Given the description of an element on the screen output the (x, y) to click on. 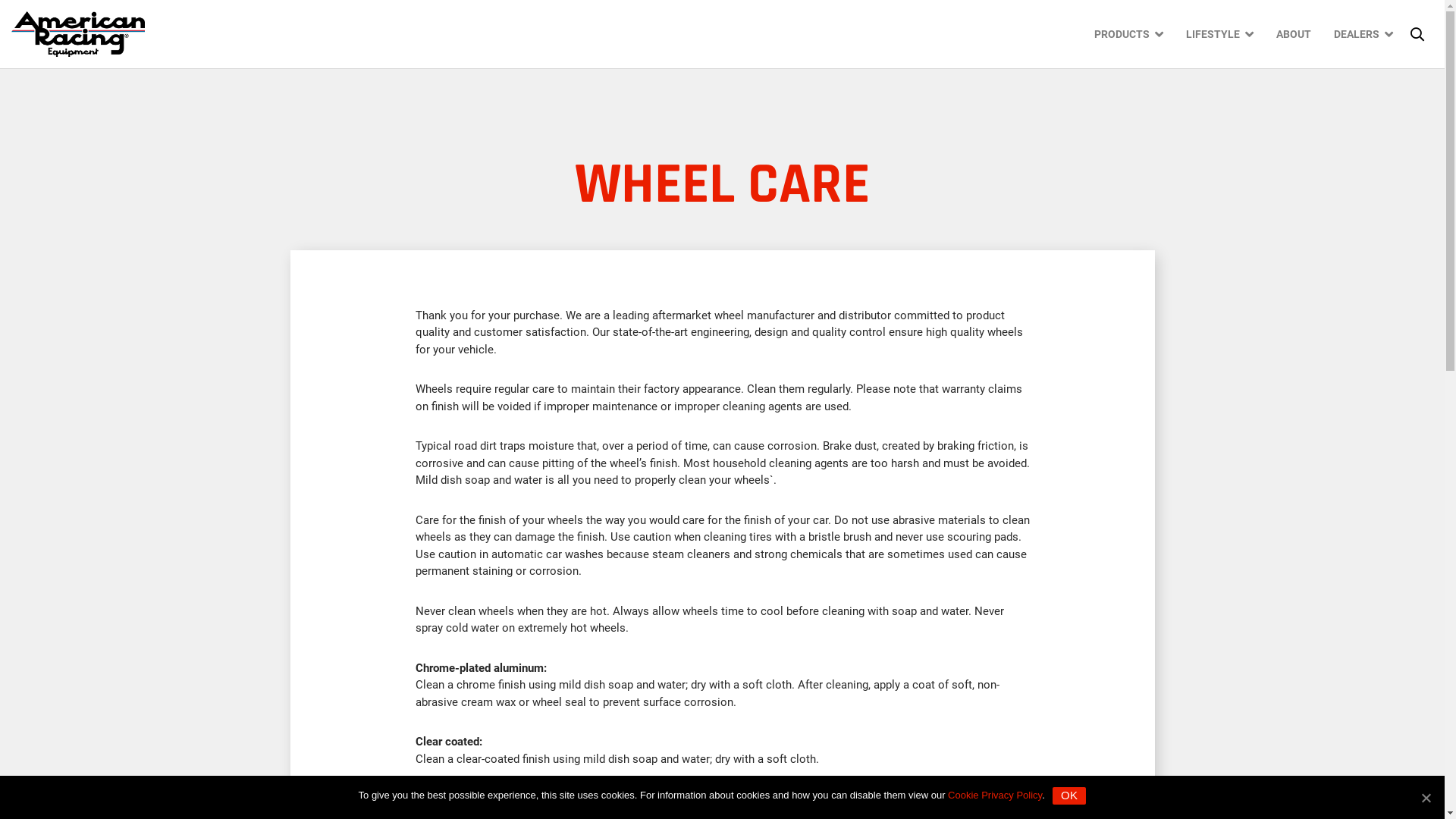
OK Element type: text (1069, 795)
Cookie Privacy Policy Element type: text (994, 794)
DEALERS Element type: text (1363, 34)
LIFESTYLE Element type: text (1219, 34)
ABOUT Element type: text (1293, 34)
PRODUCTS Element type: text (1128, 34)
